Given the description of an element on the screen output the (x, y) to click on. 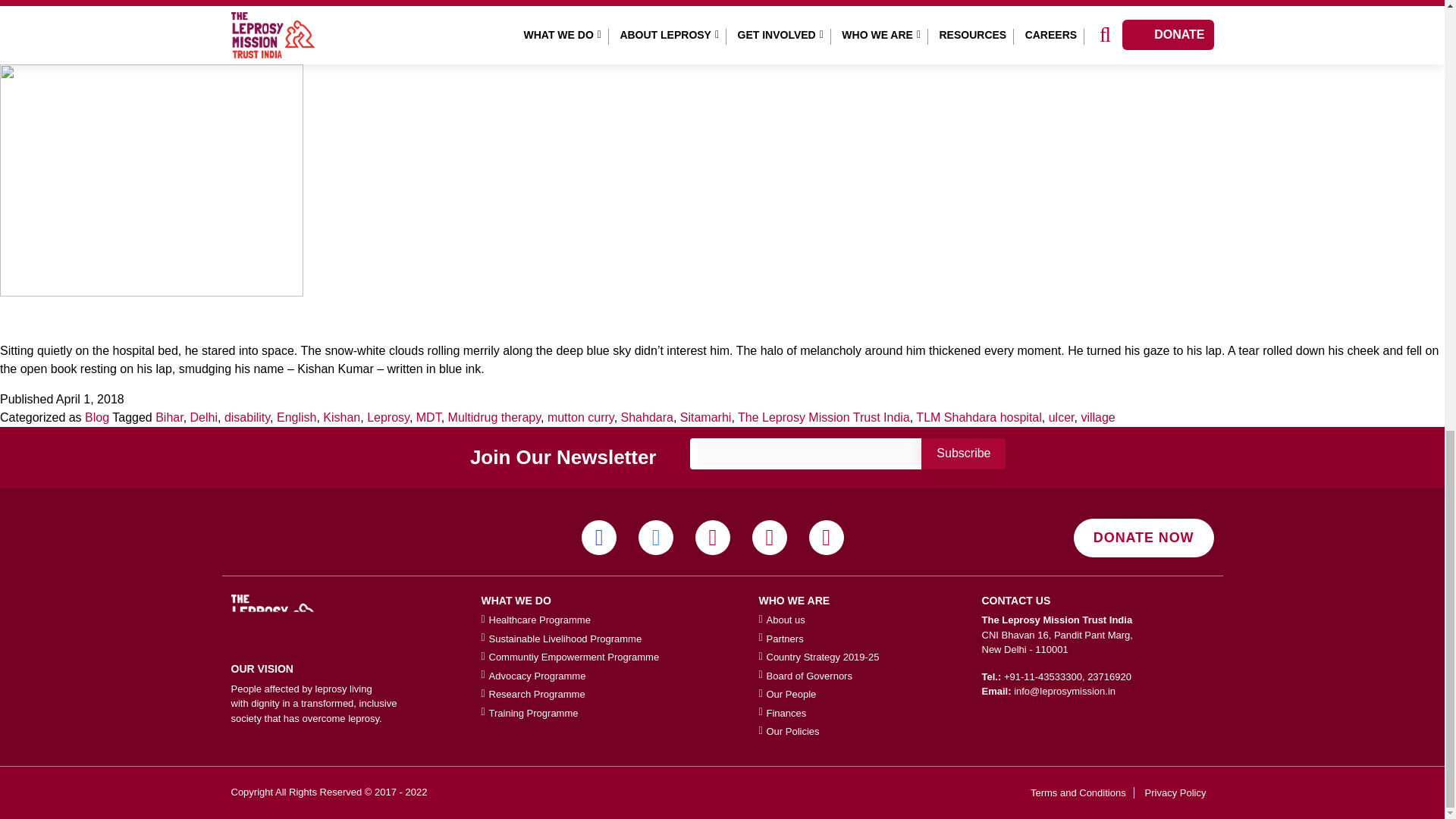
Subscribe (963, 453)
